Given the description of an element on the screen output the (x, y) to click on. 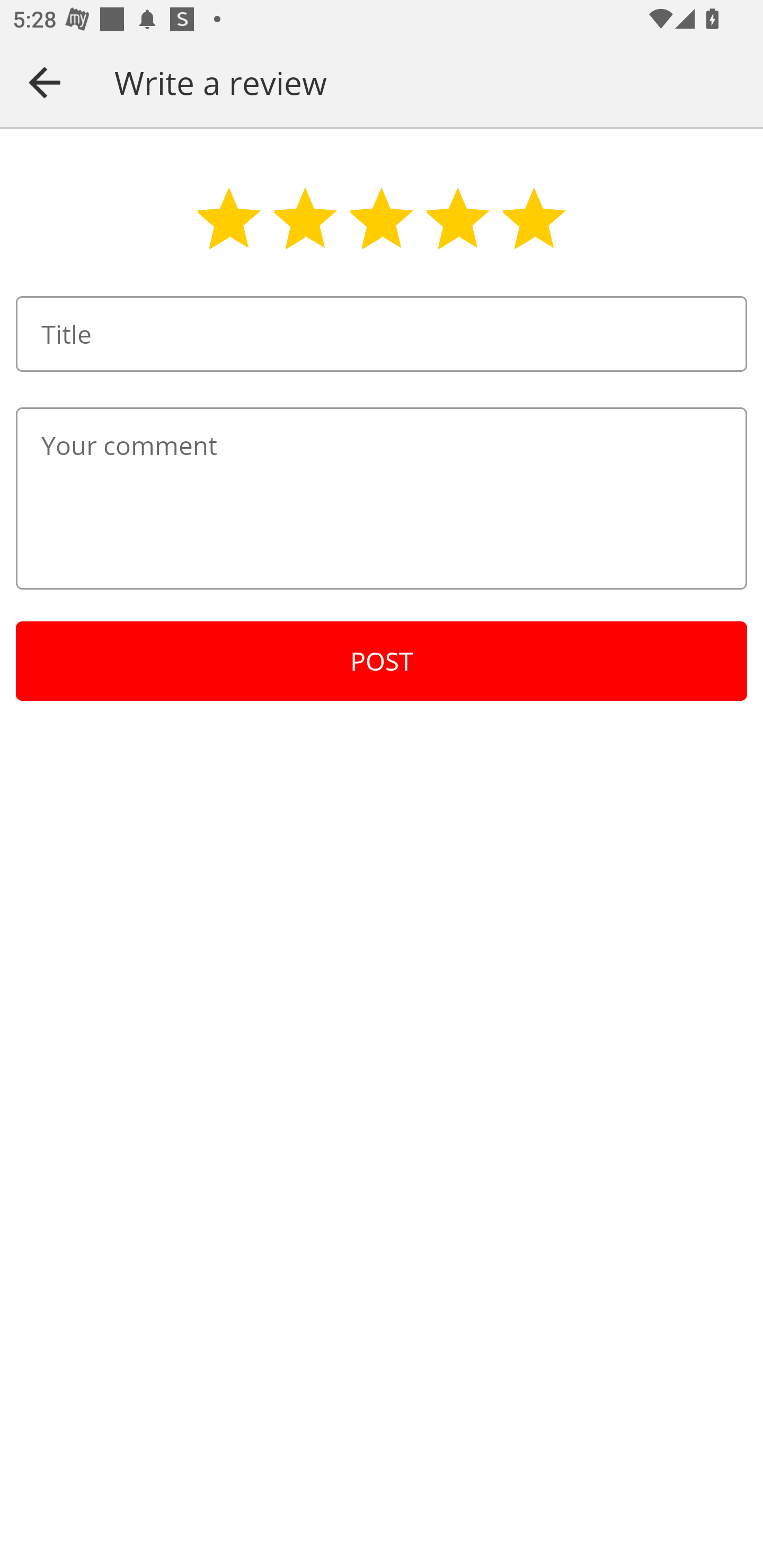
Navigate up (44, 82)
Title (381, 333)
Your comment (381, 498)
POST (381, 660)
